Given the description of an element on the screen output the (x, y) to click on. 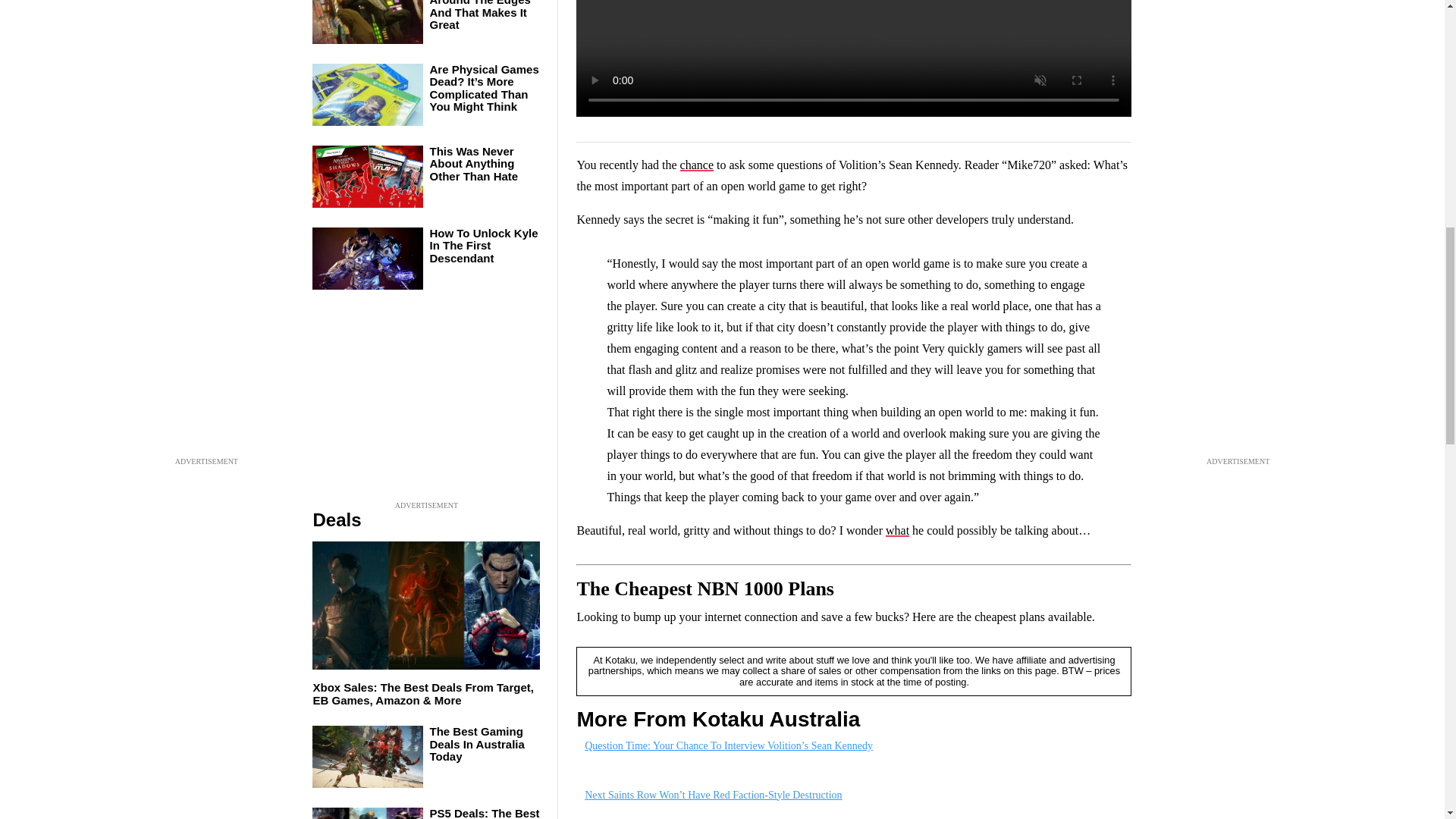
3rd party ad content (426, 403)
